Given the description of an element on the screen output the (x, y) to click on. 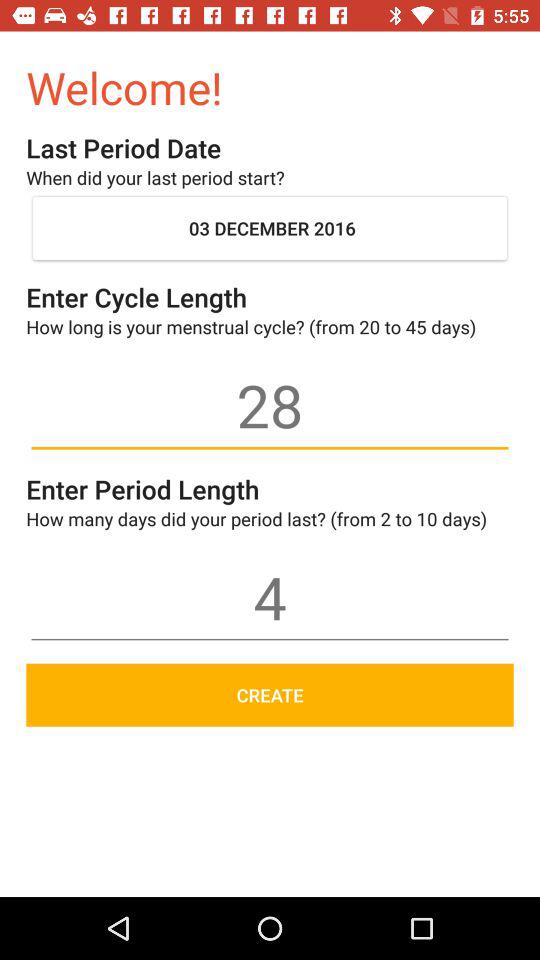
tap 28 (269, 405)
